Given the description of an element on the screen output the (x, y) to click on. 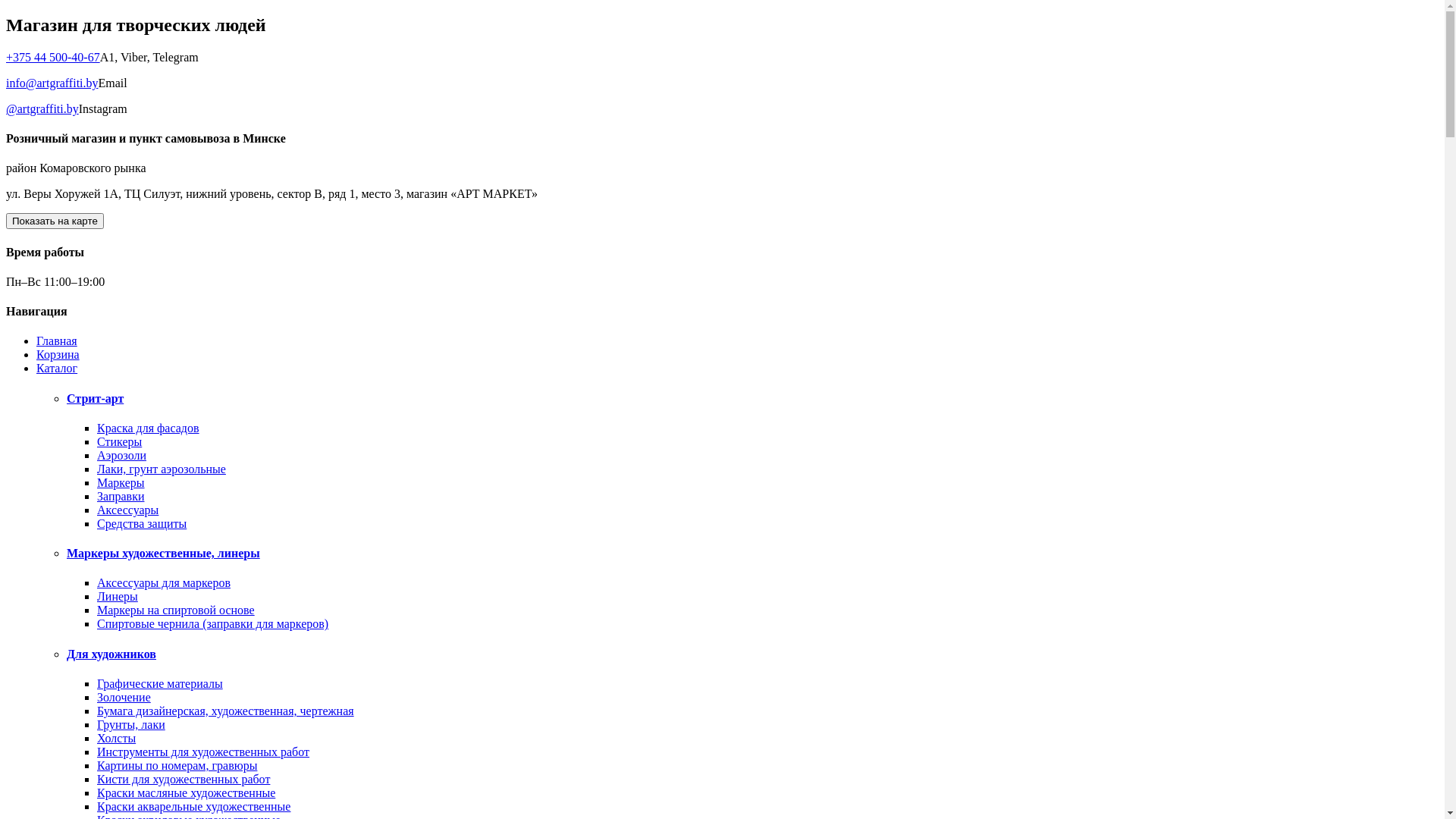
+375 44 500-40-67 Element type: text (53, 56)
info@artgraffiti.by Element type: text (52, 82)
@artgraffiti.by Element type: text (42, 108)
